Given the description of an element on the screen output the (x, y) to click on. 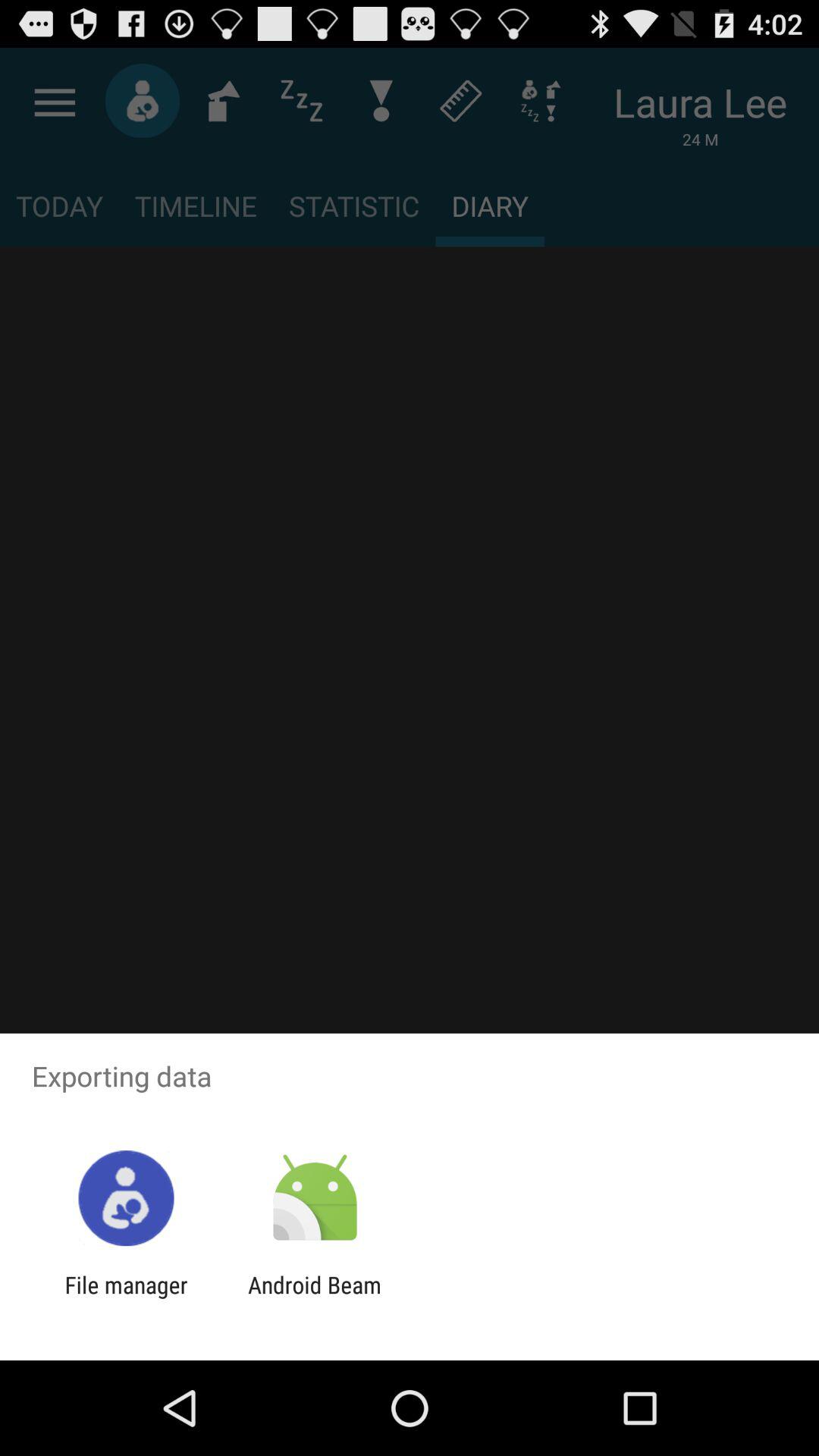
turn off the file manager (125, 1298)
